Given the description of an element on the screen output the (x, y) to click on. 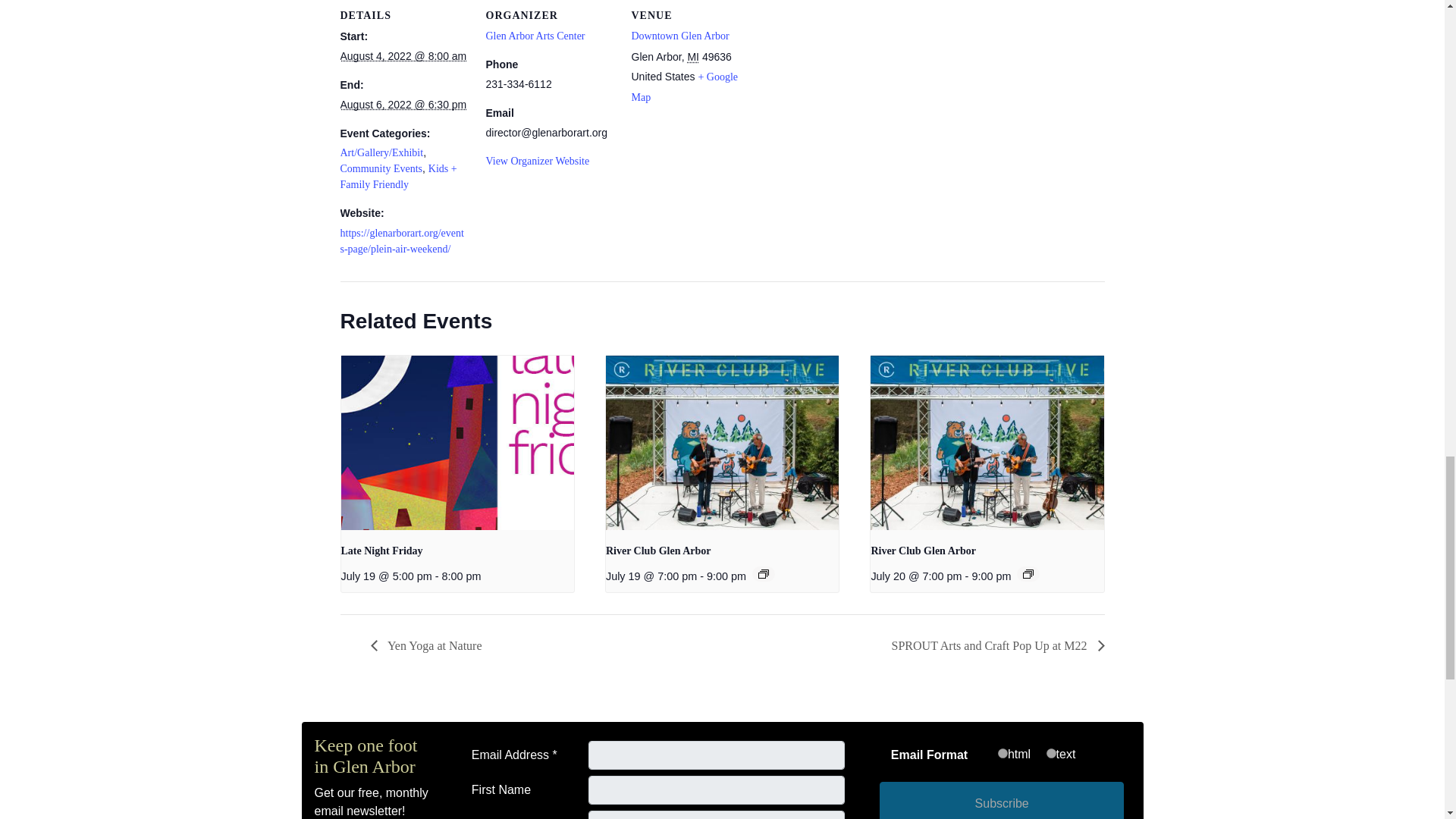
text (1051, 753)
Subscribe (1001, 800)
html (1002, 753)
